Given the description of an element on the screen output the (x, y) to click on. 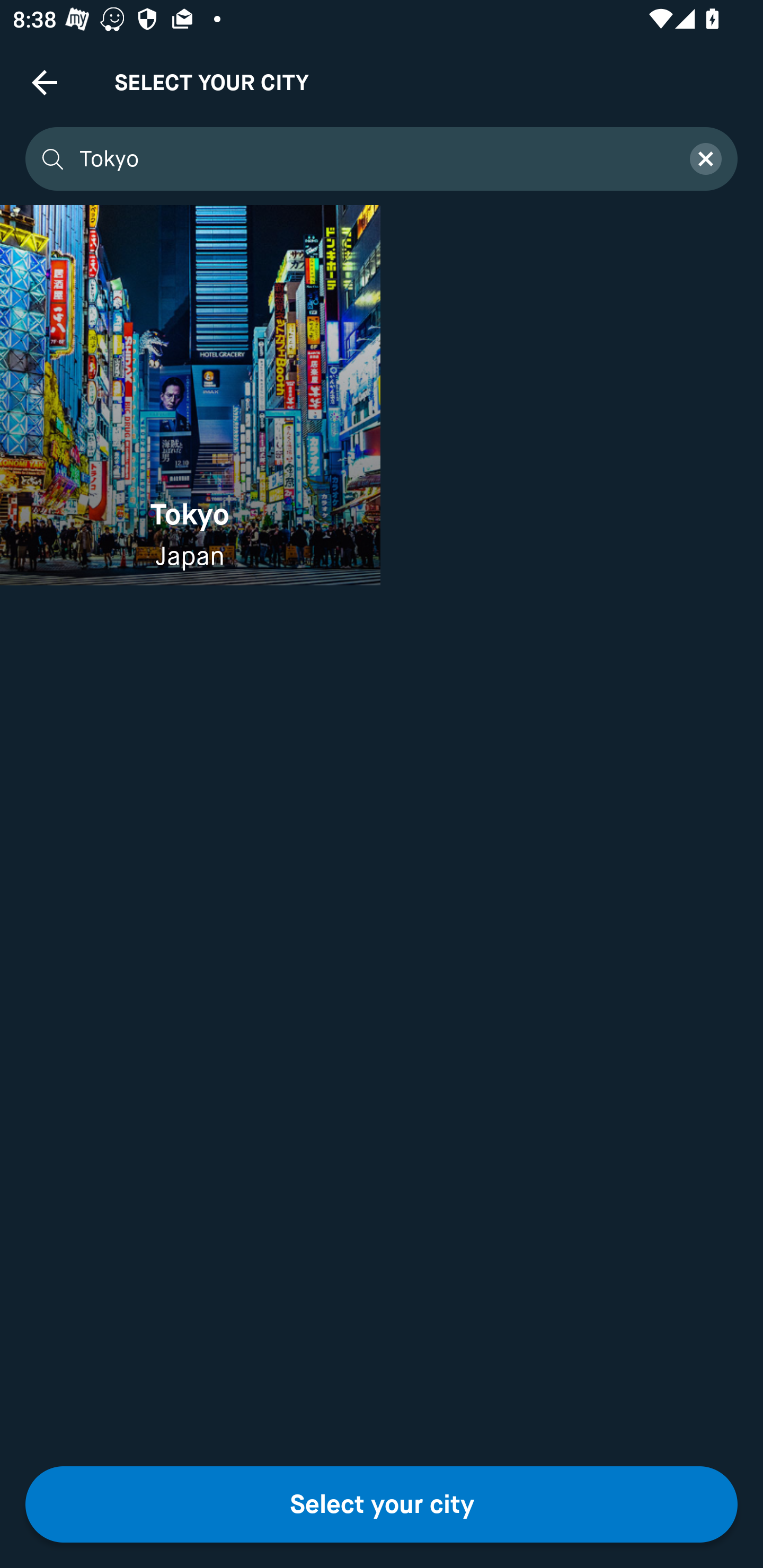
Navigate up (44, 82)
Tokyo (373, 159)
Tokyo Japan (190, 394)
Select your city (381, 1504)
